Given the description of an element on the screen output the (x, y) to click on. 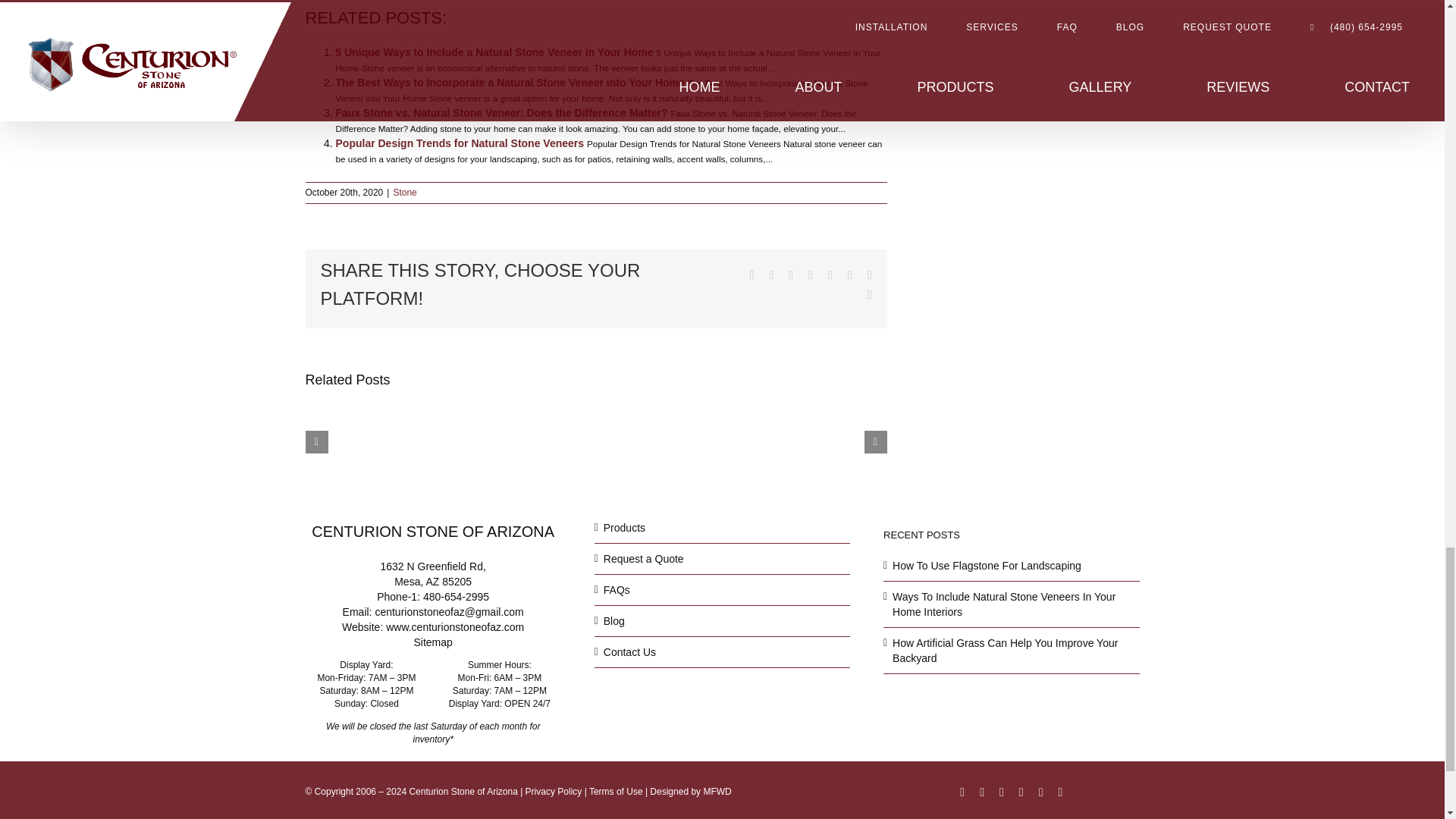
Popular Design Trends for Natural Stone Veneers (458, 143)
5 Unique Ways to Include a Natural Stone Veneer in Your Home (493, 51)
